Given the description of an element on the screen output the (x, y) to click on. 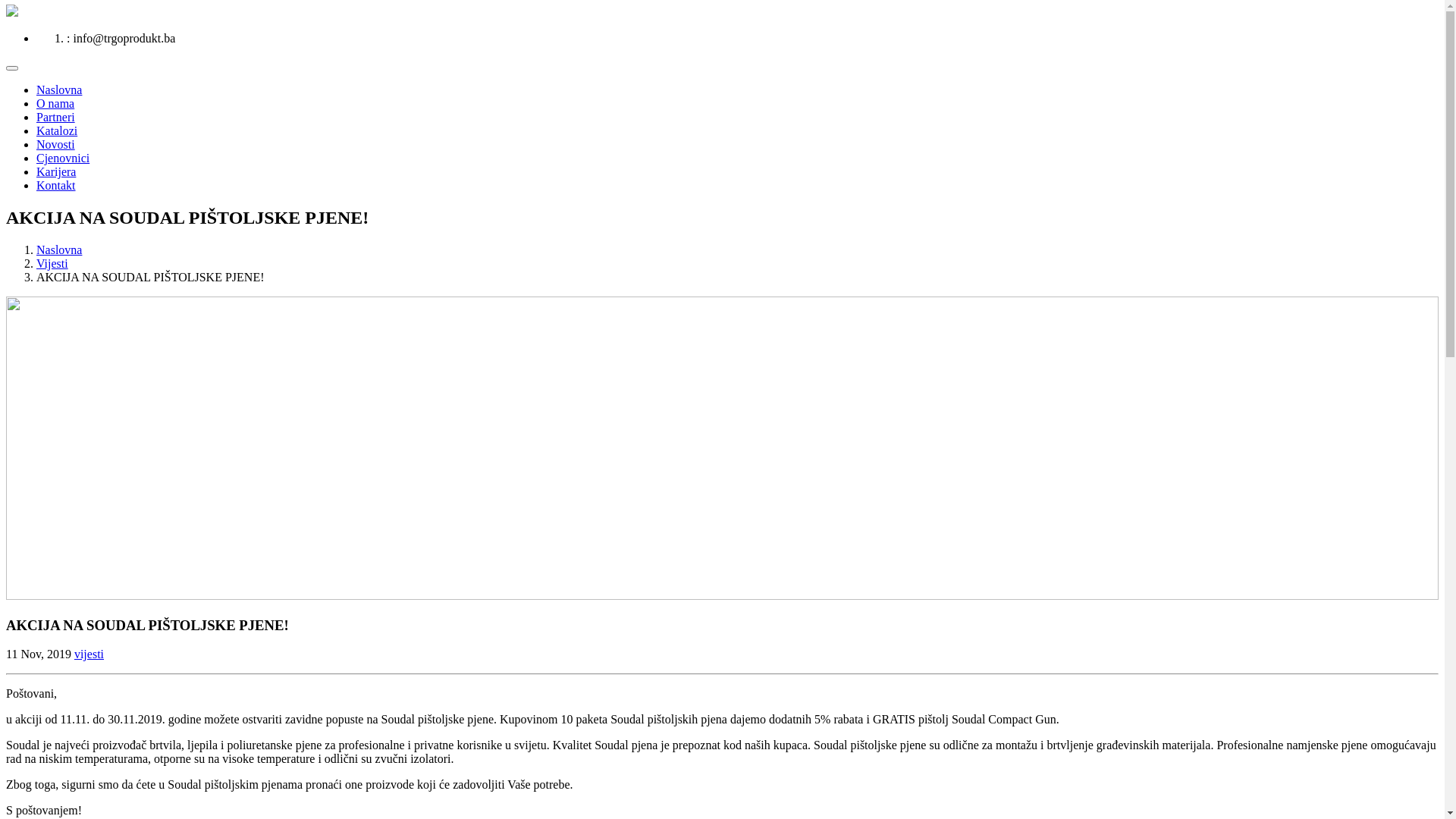
Partneri Element type: text (55, 116)
O nama Element type: text (55, 103)
Karijera Element type: text (55, 171)
Katalozi Element type: text (56, 130)
Naslovna Element type: text (58, 89)
vijesti Element type: text (88, 653)
Kontakt Element type: text (55, 184)
Naslovna Element type: text (58, 249)
Novosti Element type: text (55, 144)
Cjenovnici Element type: text (62, 157)
Vijesti Element type: text (52, 263)
